Given the description of an element on the screen output the (x, y) to click on. 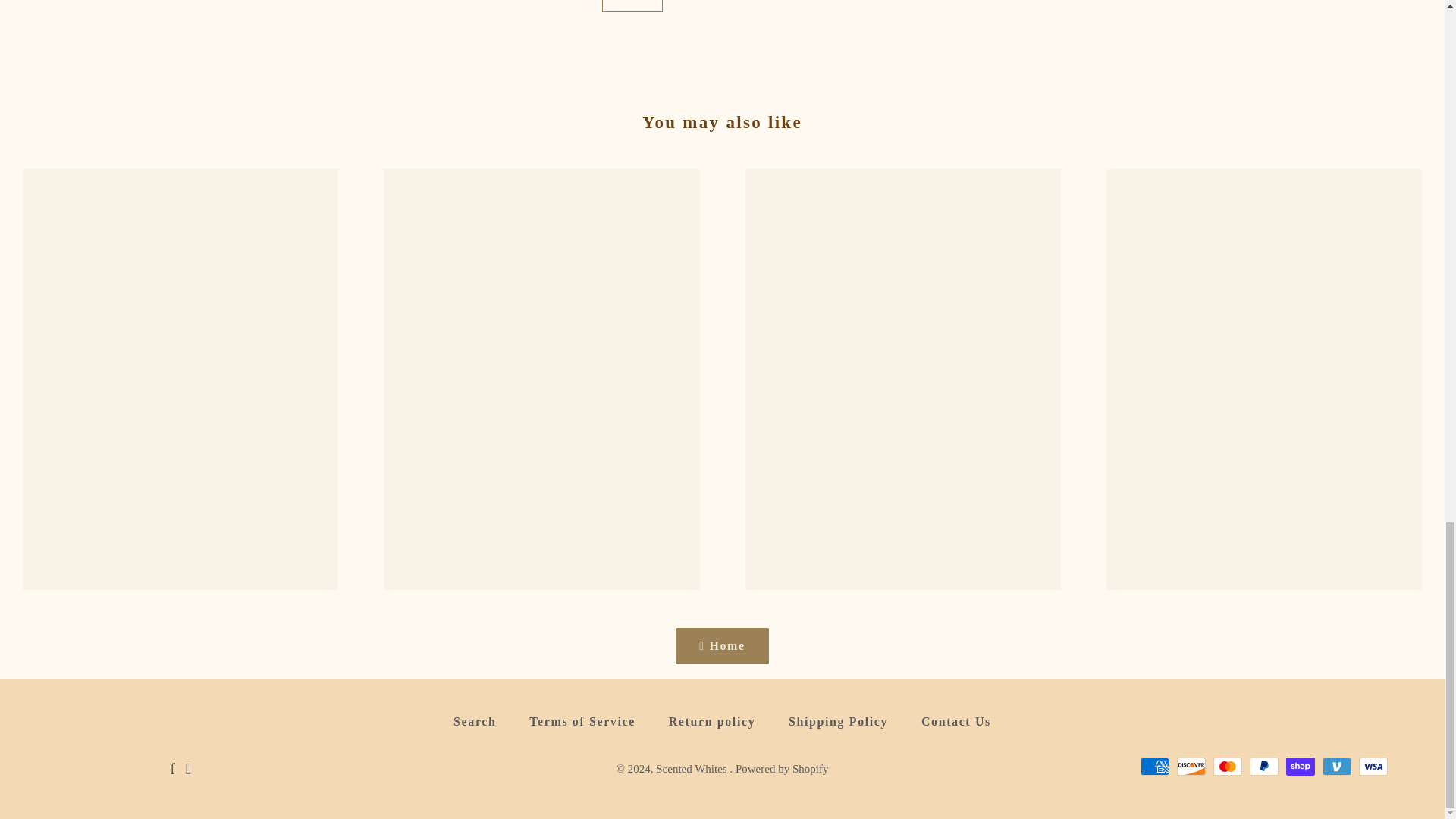
Scented Whites (692, 768)
Venmo (1336, 766)
Shop Pay (1299, 766)
Terms of Service (581, 721)
Visa (1372, 766)
Home (721, 646)
Mastercard (1226, 766)
Discover (1190, 766)
PayPal (1263, 766)
Return policy (712, 721)
